Given the description of an element on the screen output the (x, y) to click on. 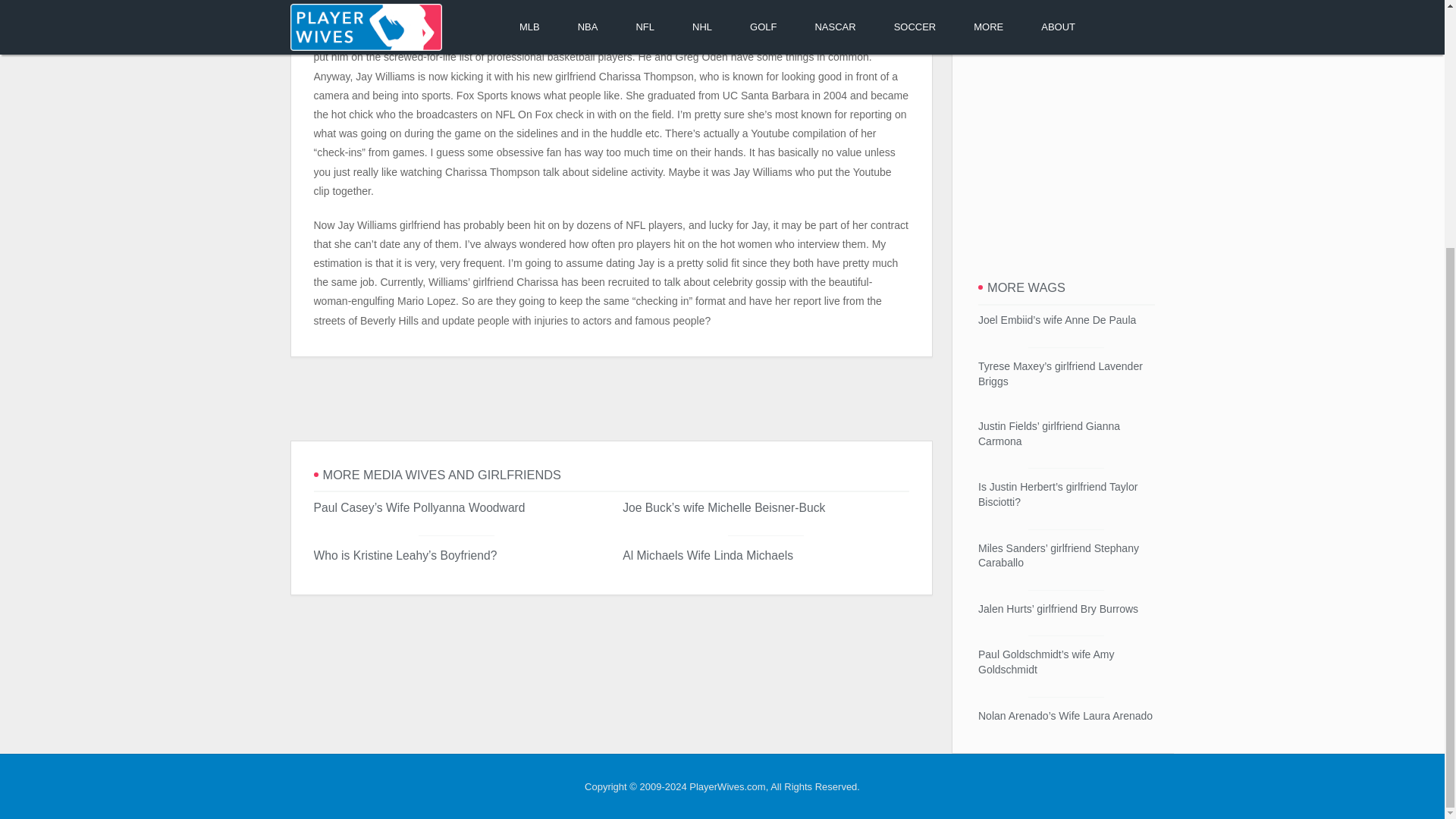
Al Michaels Wife Linda Michaels (708, 554)
